Given the description of an element on the screen output the (x, y) to click on. 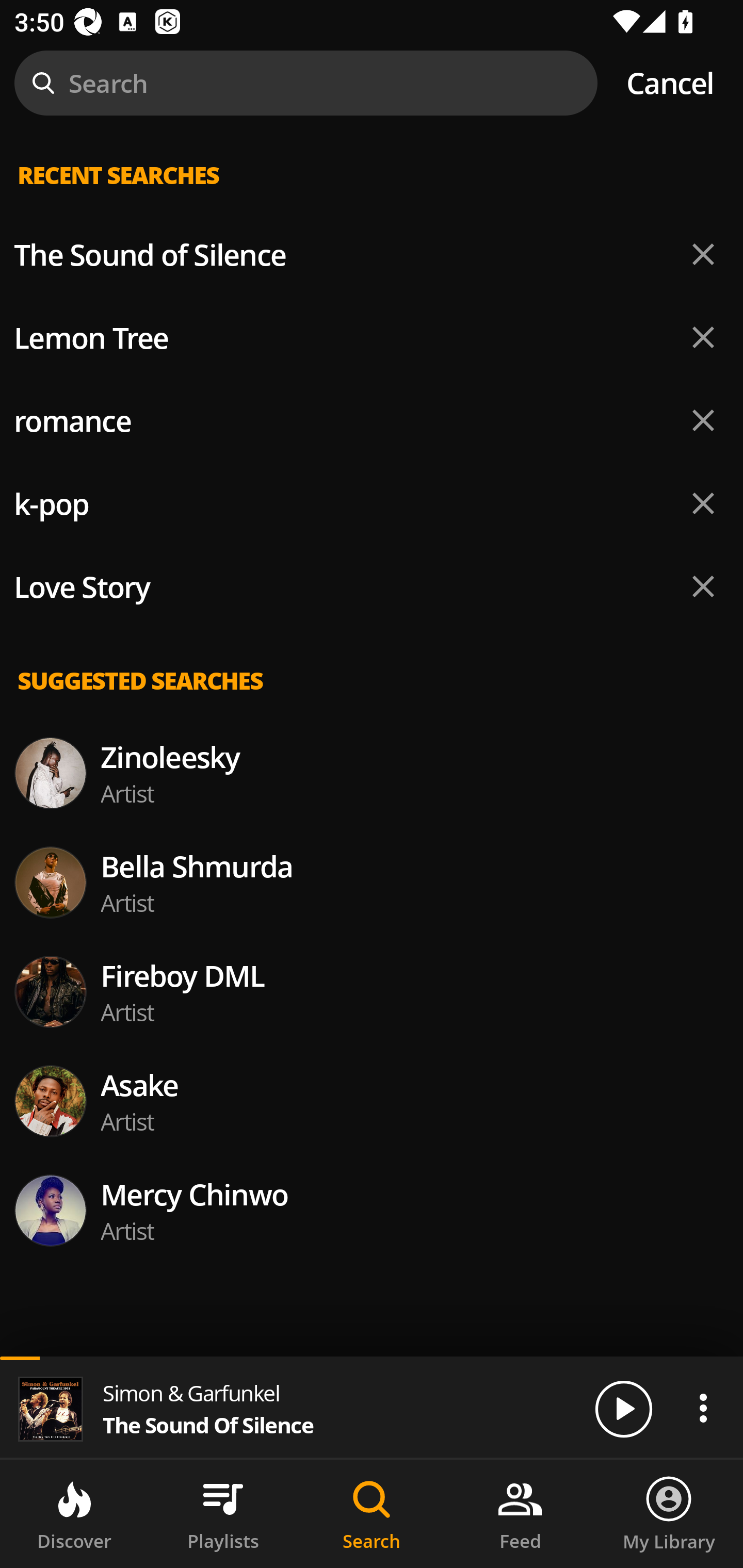
Search Cancel (371, 82)
Cancel (670, 82)
Artists, songs, albums and playlists… (371, 191)
The Sound of Silence Delete (371, 254)
Delete (703, 254)
Lemon Tree Delete (371, 337)
Delete (703, 336)
romance Delete (371, 420)
Delete (703, 420)
k-pop Delete (371, 503)
Delete (703, 503)
Love Story Delete (371, 586)
Delete (703, 586)
Zinoleesky Artist (371, 772)
Bella Shmurda Artist (371, 882)
Fireboy DML Artist (371, 991)
Asake Artist (371, 1100)
Mercy Chinwo Artist (371, 1210)
Actions (703, 1407)
Play/Pause (623, 1408)
Discover (74, 1513)
Playlists (222, 1513)
Search (371, 1513)
Feed (519, 1513)
My Library (668, 1513)
